Given the description of an element on the screen output the (x, y) to click on. 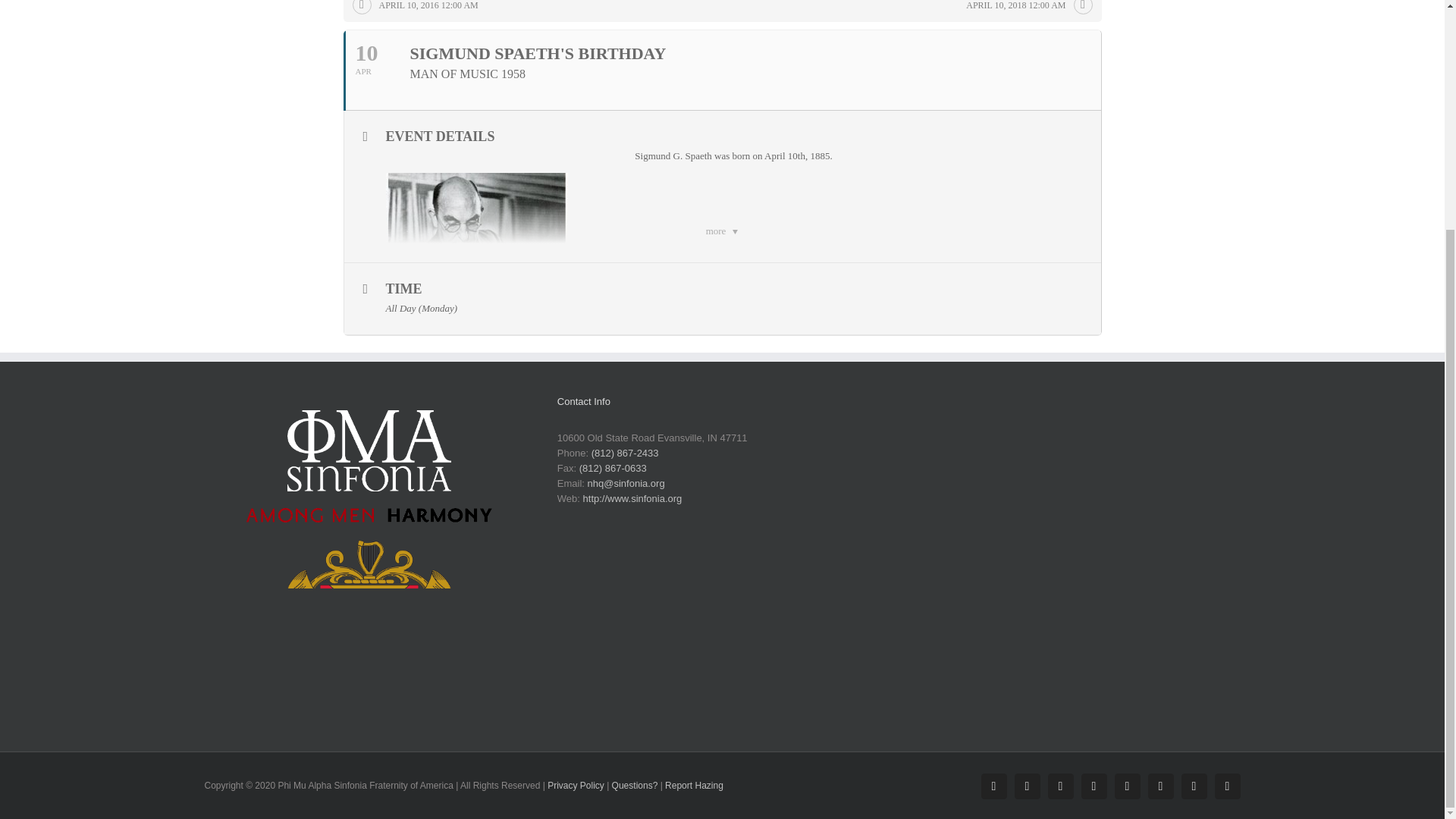
Spotify (1160, 786)
YouTube (1093, 786)
Rss (1193, 786)
LinkedIn (1127, 786)
Facebook (994, 786)
Twitter (1061, 786)
Instagram (1027, 786)
april 10, 2018 12:00 am (1024, 9)
april 10, 2016 12:00 am (418, 9)
